Given the description of an element on the screen output the (x, y) to click on. 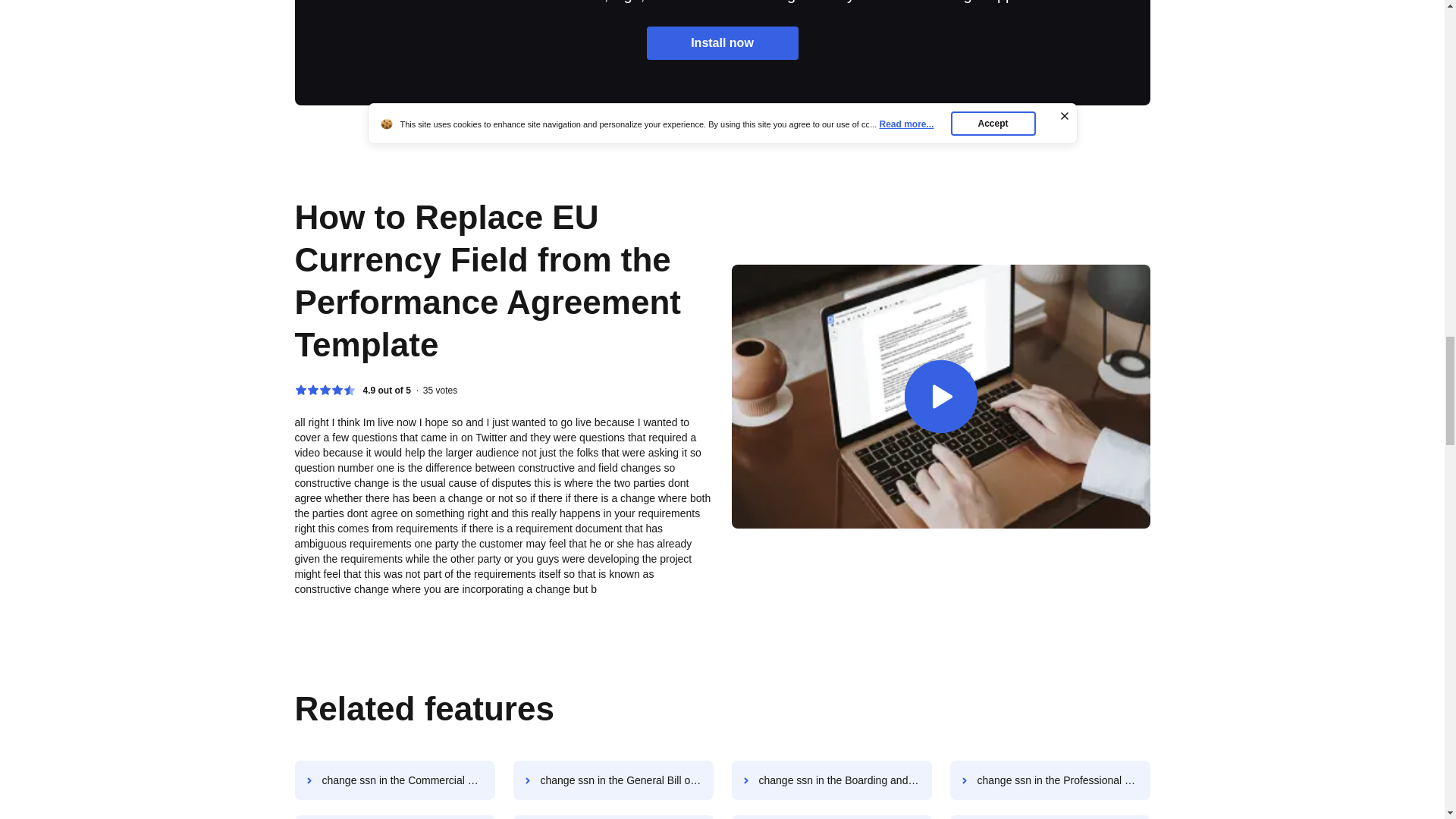
change ssn in the Pet Adoption Contract (612, 816)
change ssn in the Free Sublease Agreement (394, 816)
change ssn in the Professional Physical Therapy (1049, 780)
change ssn in the Commercial Photography Contract (394, 780)
change ssn in the Product Photography Contract (830, 816)
change ssn in the General Bill of Sale (612, 780)
change ssn in the Wedding Photography (1049, 816)
change ssn in the Boarding and Daycare Contract (830, 780)
Install now (721, 42)
